Given the description of an element on the screen output the (x, y) to click on. 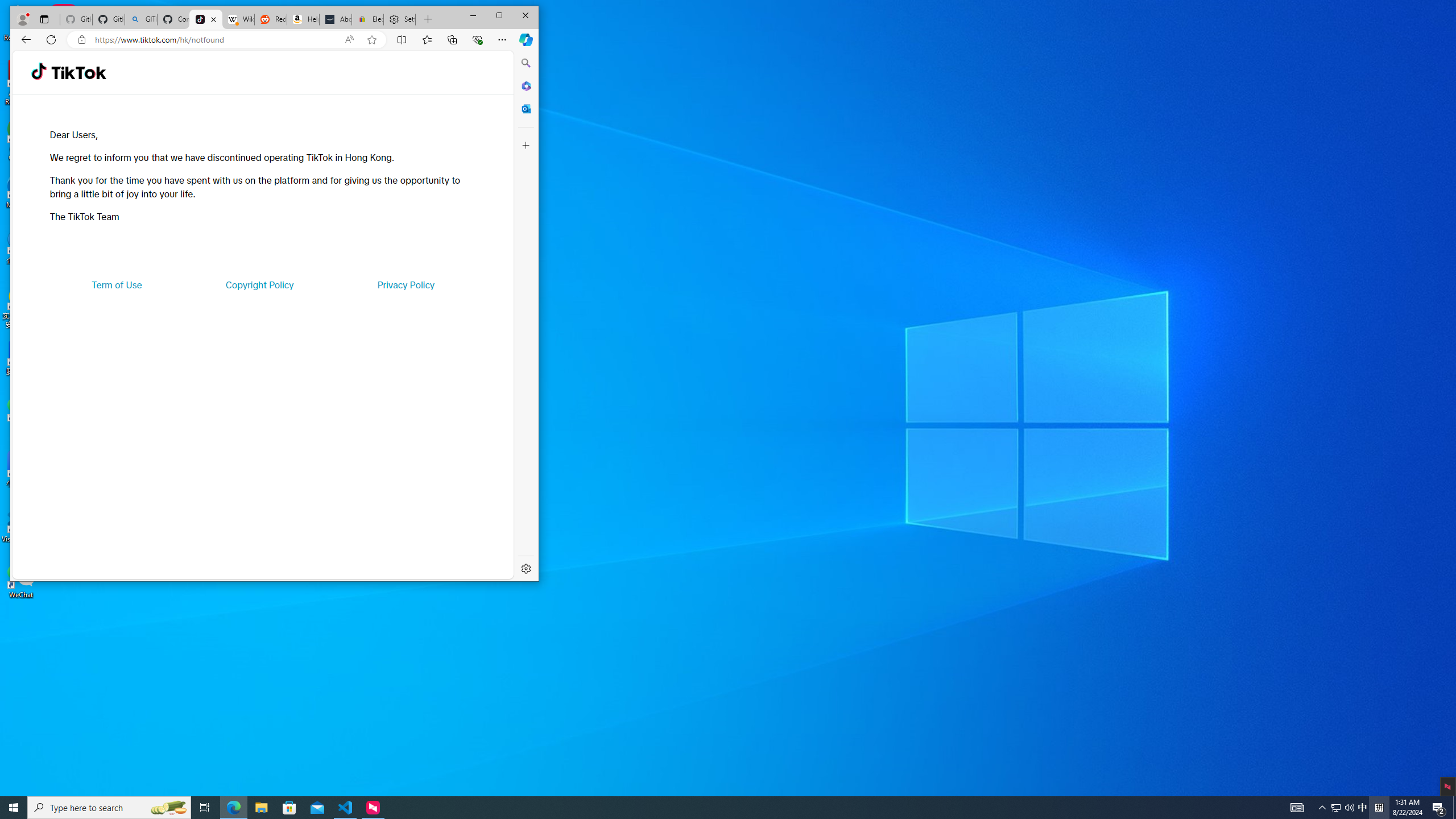
GITHUB - Search (140, 19)
Type here to search (108, 807)
Microsoft Edge - 1 running window (233, 807)
AutomationID: 4105 (1297, 807)
About Amazon (335, 19)
User Promoted Notification Area (1342, 807)
Privacy Policy (405, 284)
Copyright Policy (1362, 807)
